Given the description of an element on the screen output the (x, y) to click on. 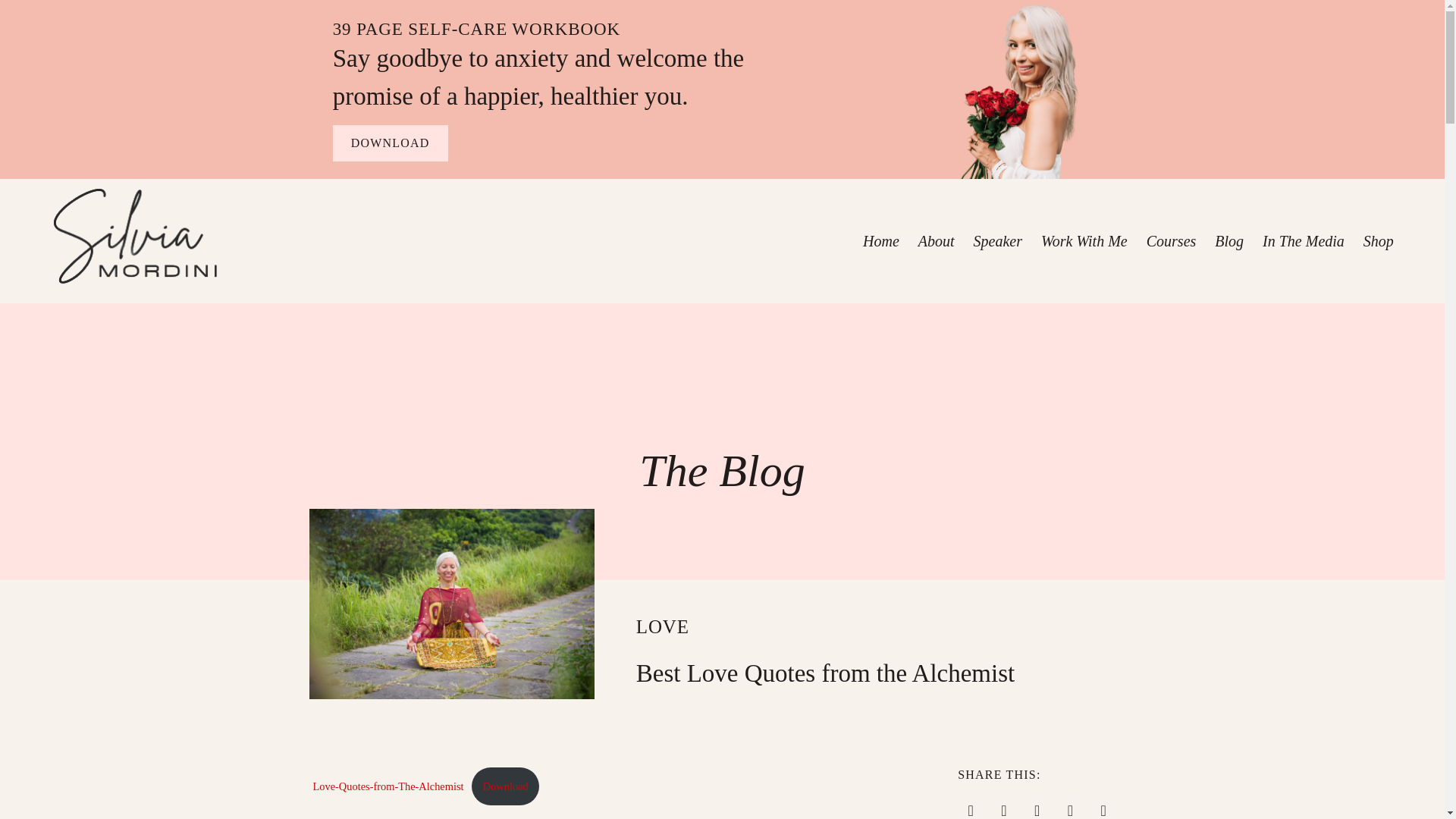
Blog (1228, 241)
Work With Me (1084, 241)
Courses (1171, 241)
Download (504, 786)
Love-Quotes-from-The-Alchemist (388, 786)
About (936, 241)
In The Media (1303, 241)
DOWNLOAD (390, 143)
Home (881, 241)
LOVE (662, 626)
Speaker (997, 241)
Shop (1377, 241)
